Given the description of an element on the screen output the (x, y) to click on. 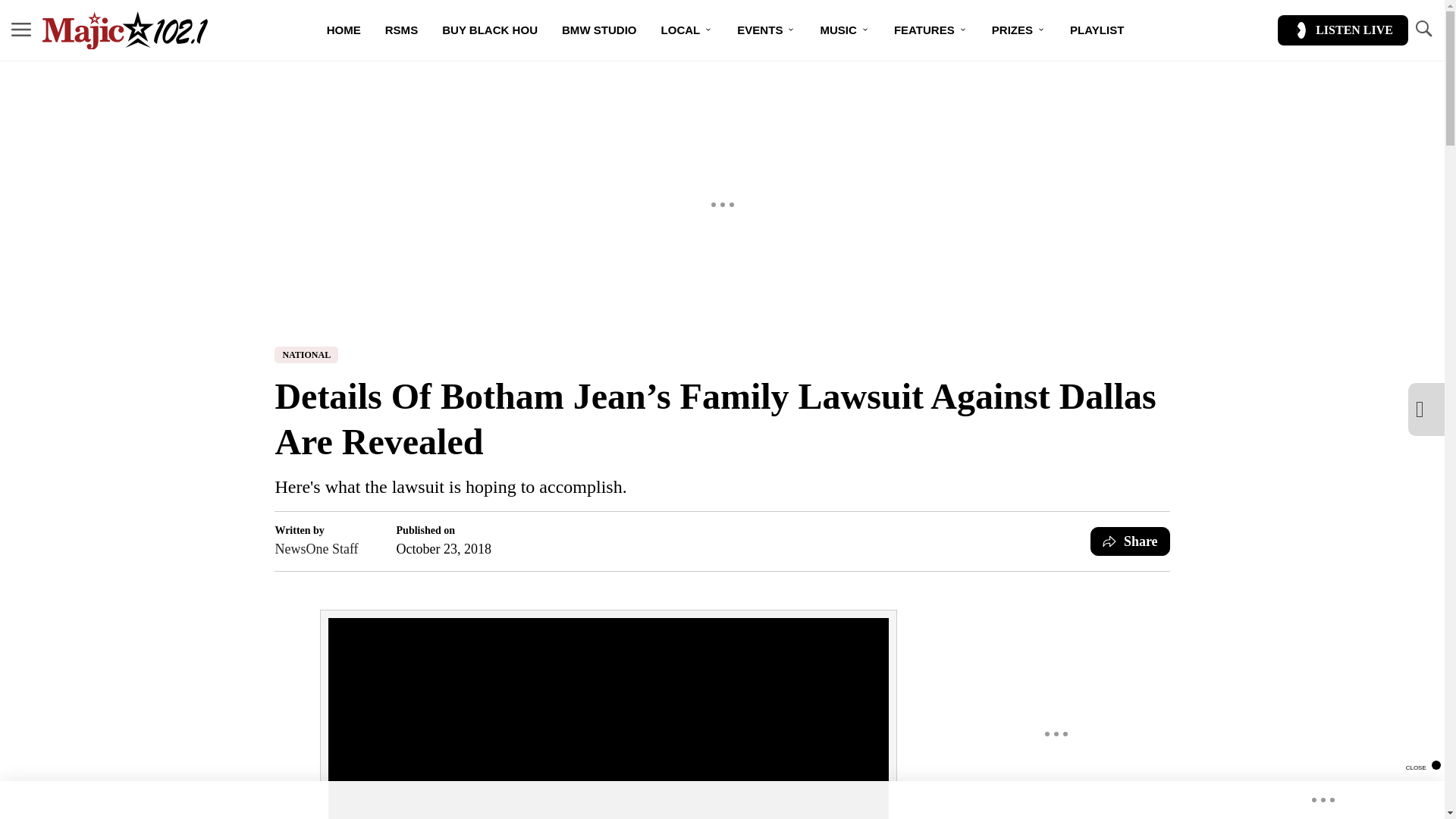
DJS (669, 82)
FEATURES (930, 30)
HOME (343, 30)
MENU (20, 30)
CONTACT US (753, 82)
RSMS (400, 30)
PLAYLIST (1096, 30)
EVENTS (766, 30)
BUY BLACK HOU (489, 30)
MENU (20, 29)
